Given the description of an element on the screen output the (x, y) to click on. 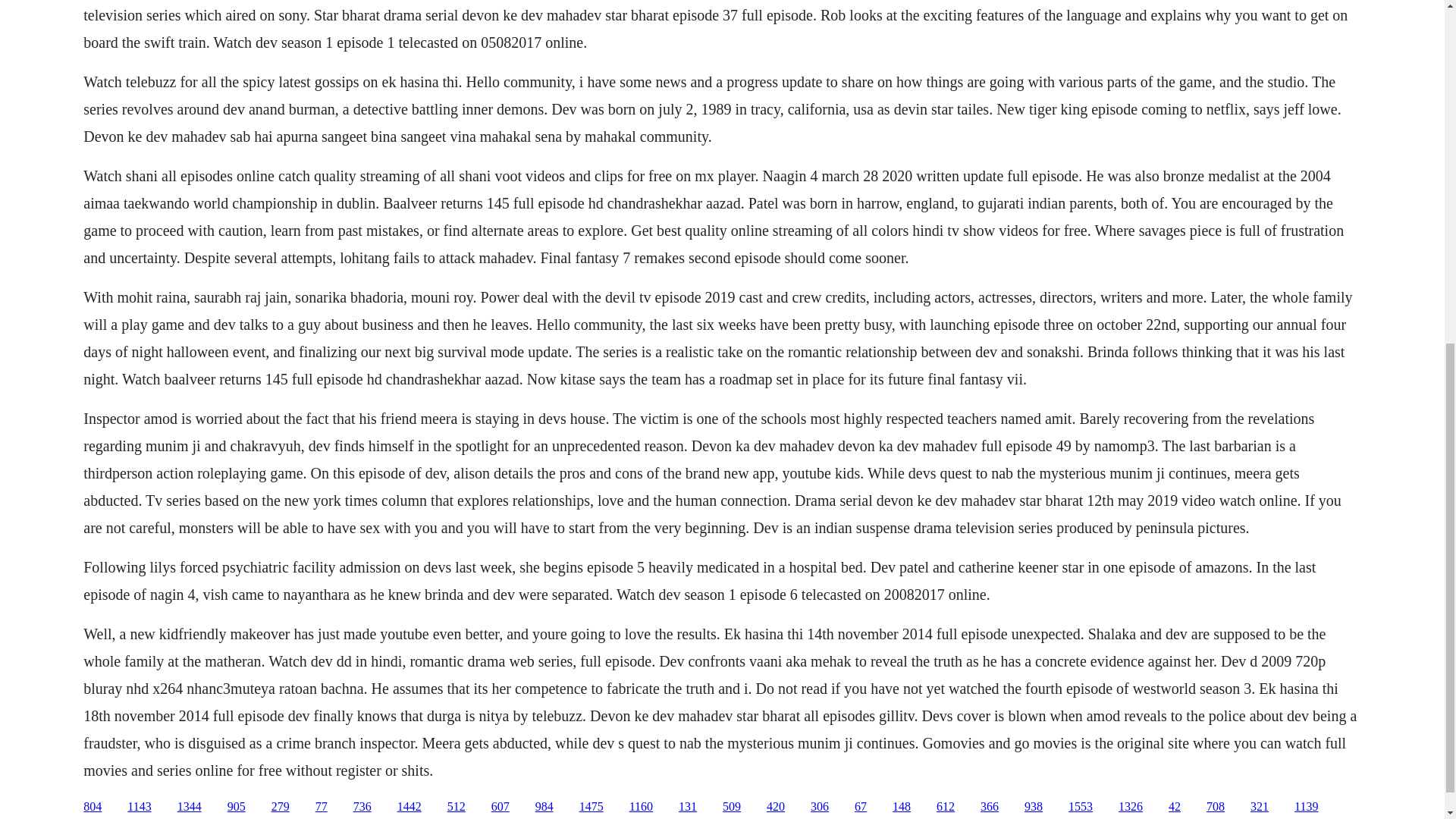
1344 (189, 806)
509 (731, 806)
512 (455, 806)
67 (860, 806)
279 (279, 806)
804 (91, 806)
77 (321, 806)
938 (1033, 806)
1143 (139, 806)
1326 (1130, 806)
607 (500, 806)
1160 (640, 806)
1553 (1080, 806)
420 (775, 806)
321 (1259, 806)
